Given the description of an element on the screen output the (x, y) to click on. 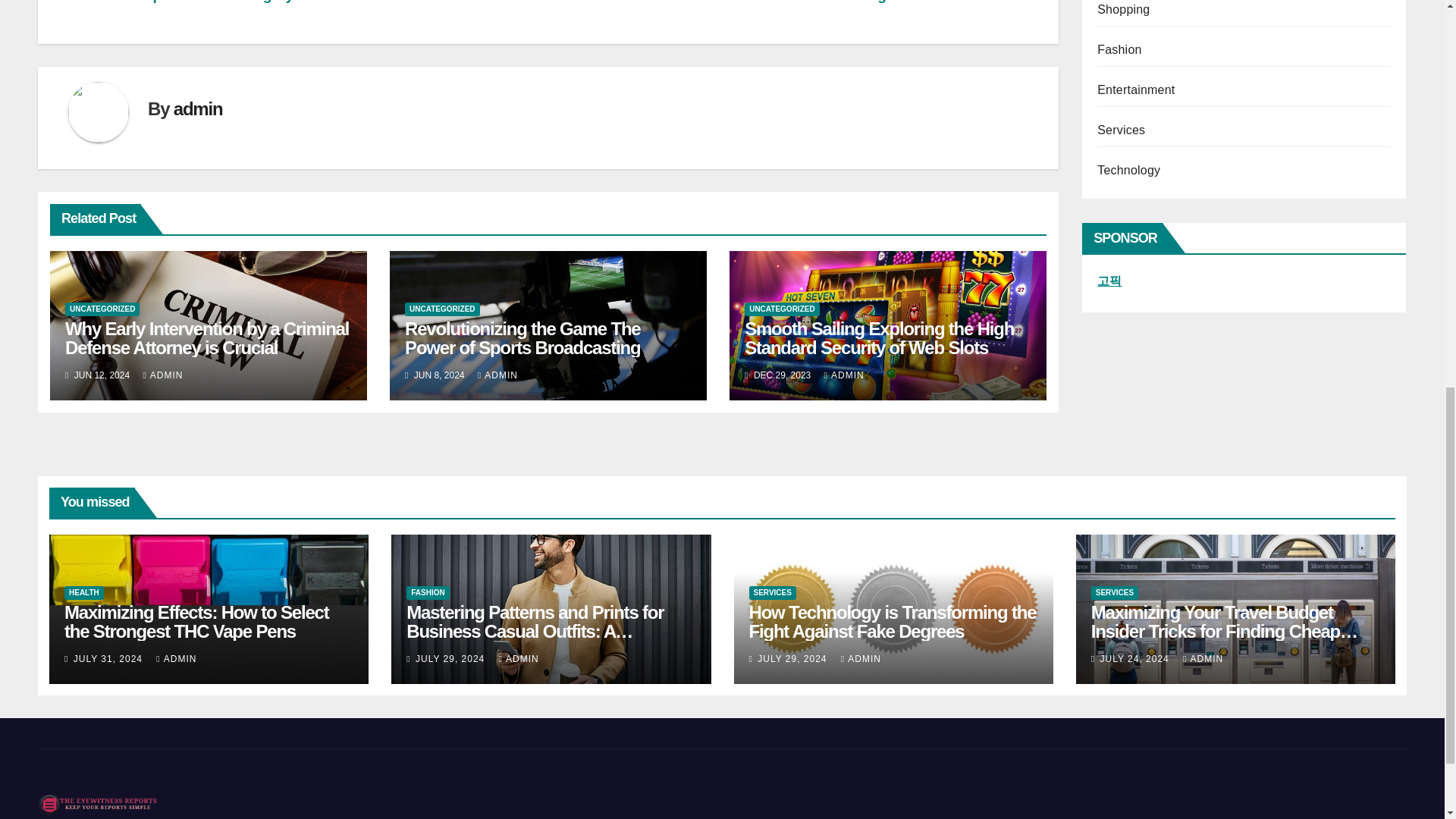
ADMIN (162, 375)
admin (197, 108)
Add These Magnets To Your Casino (905, 1)
UNCATEGORIZED (102, 309)
